Given the description of an element on the screen output the (x, y) to click on. 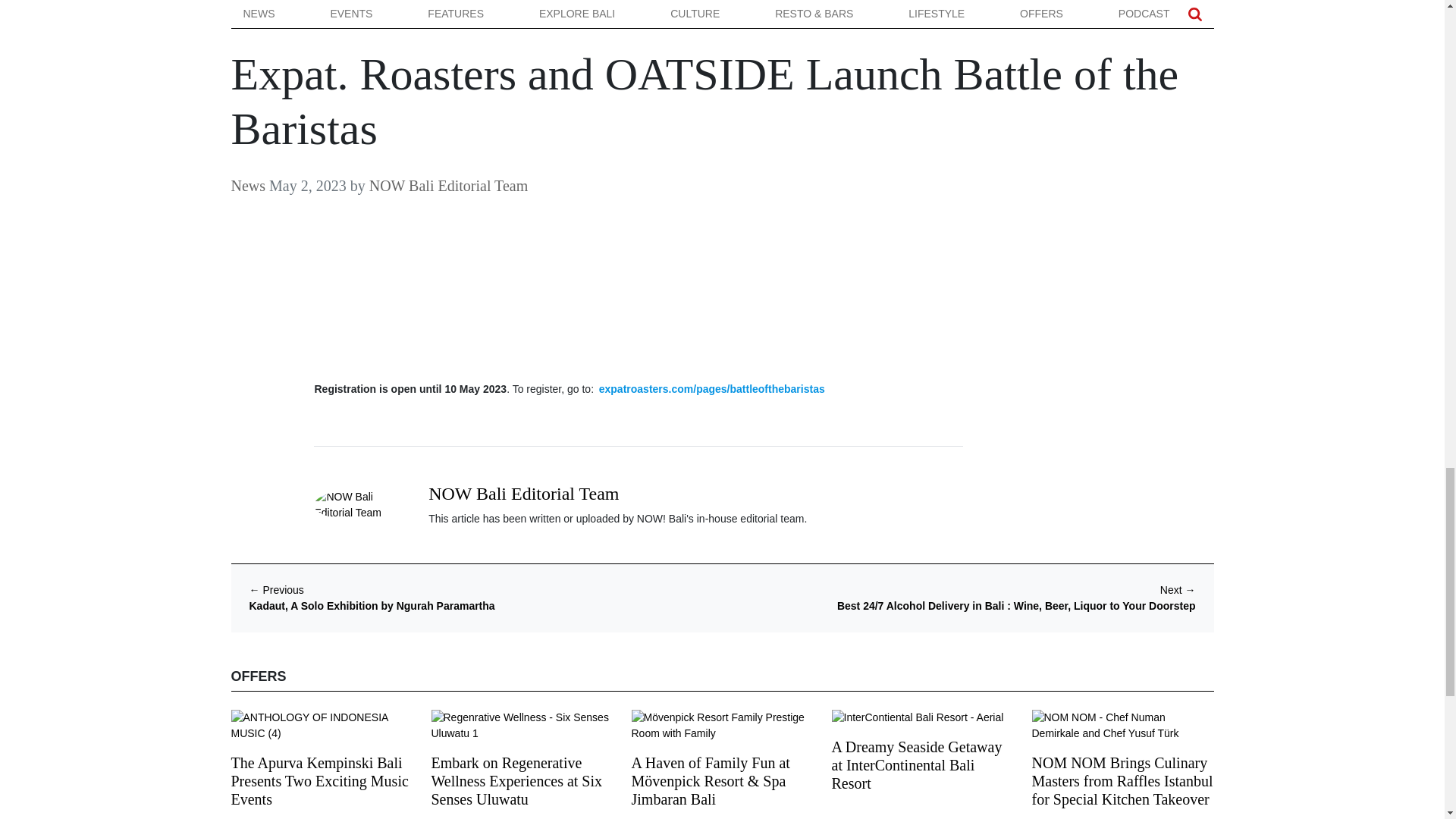
NOW Bali Editorial Team (523, 493)
